Given the description of an element on the screen output the (x, y) to click on. 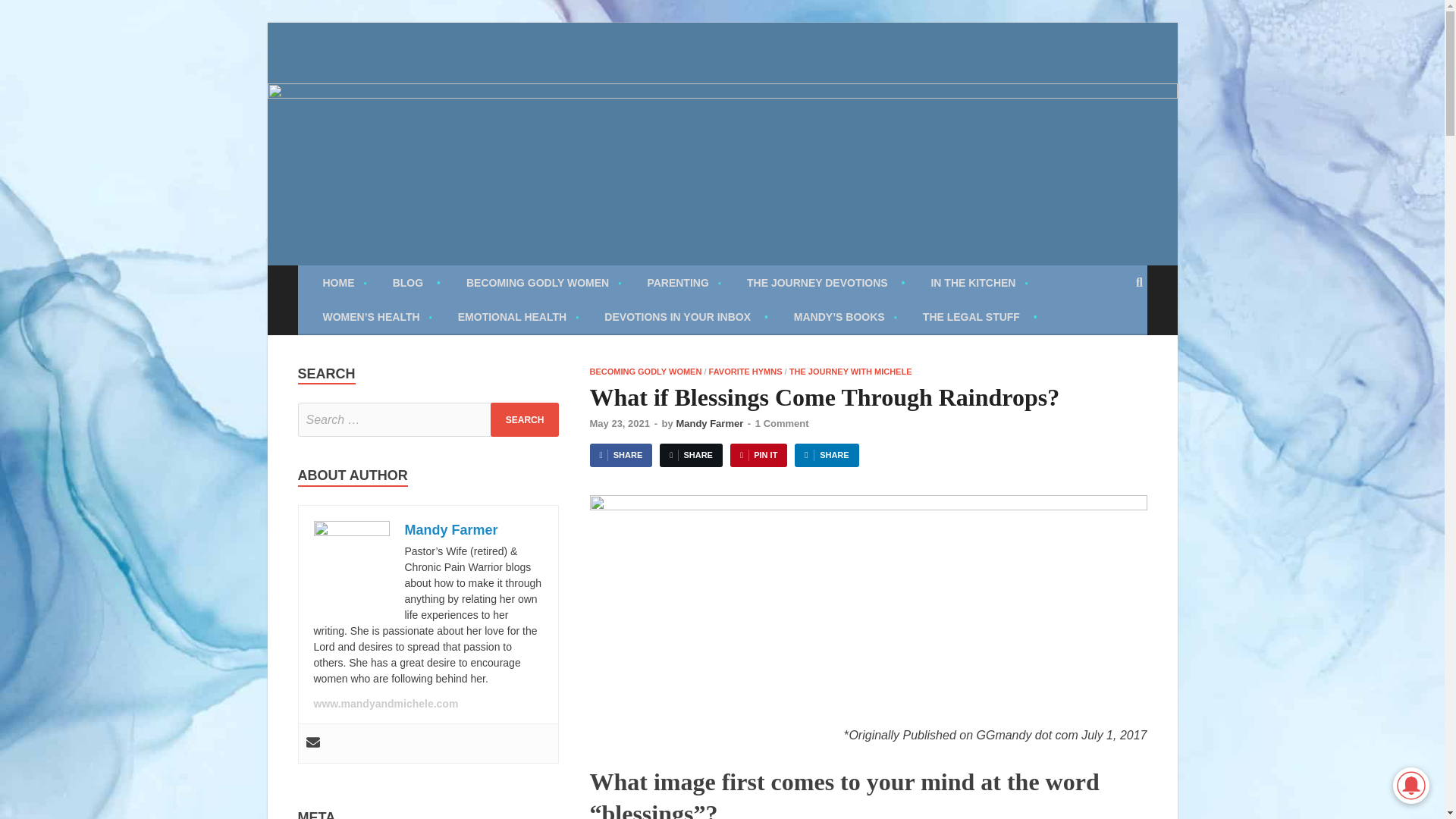
HOME (343, 282)
Search (524, 419)
Search (524, 419)
BLOG (416, 282)
Mandy and Michele (433, 73)
BECOMING GODLY WOMEN (542, 282)
EMOTIONAL HEALTH (518, 316)
PARENTING (683, 282)
IN THE KITCHEN (979, 282)
THE JOURNEY DEVOTIONS (825, 282)
